Given the description of an element on the screen output the (x, y) to click on. 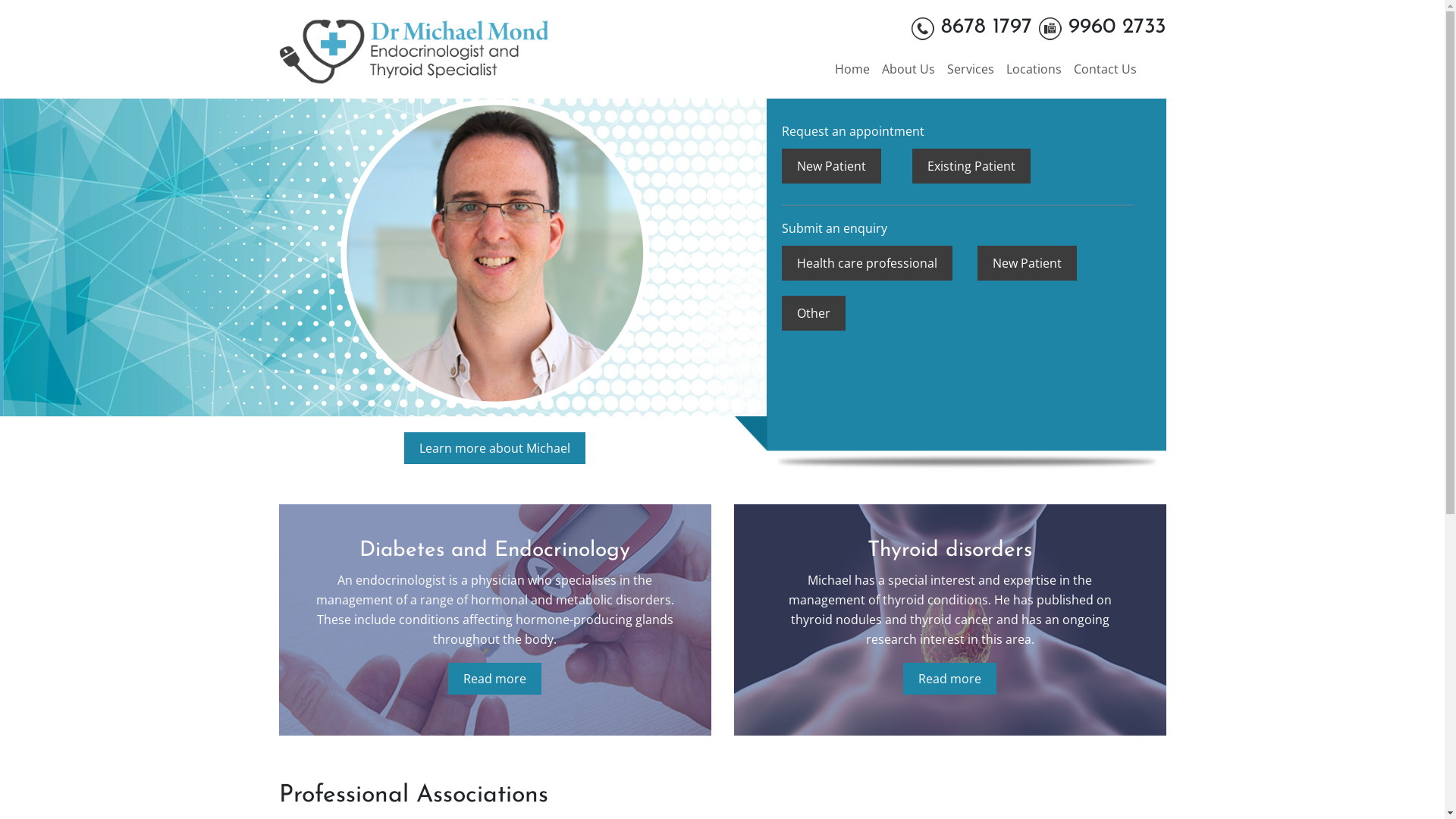
Contact Us Element type: text (1104, 68)
New Patient Element type: text (830, 165)
New Patient Element type: text (1026, 262)
Health care professional Element type: text (866, 262)
Read more Element type: text (949, 678)
Other Element type: text (812, 312)
About Us Element type: text (907, 68)
Existing Patient Element type: text (971, 165)
Locations Element type: text (1032, 68)
Read more Element type: text (494, 678)
Home Element type: text (851, 68)
Learn more about Michael Element type: text (494, 448)
Services Element type: text (969, 68)
